Given the description of an element on the screen output the (x, y) to click on. 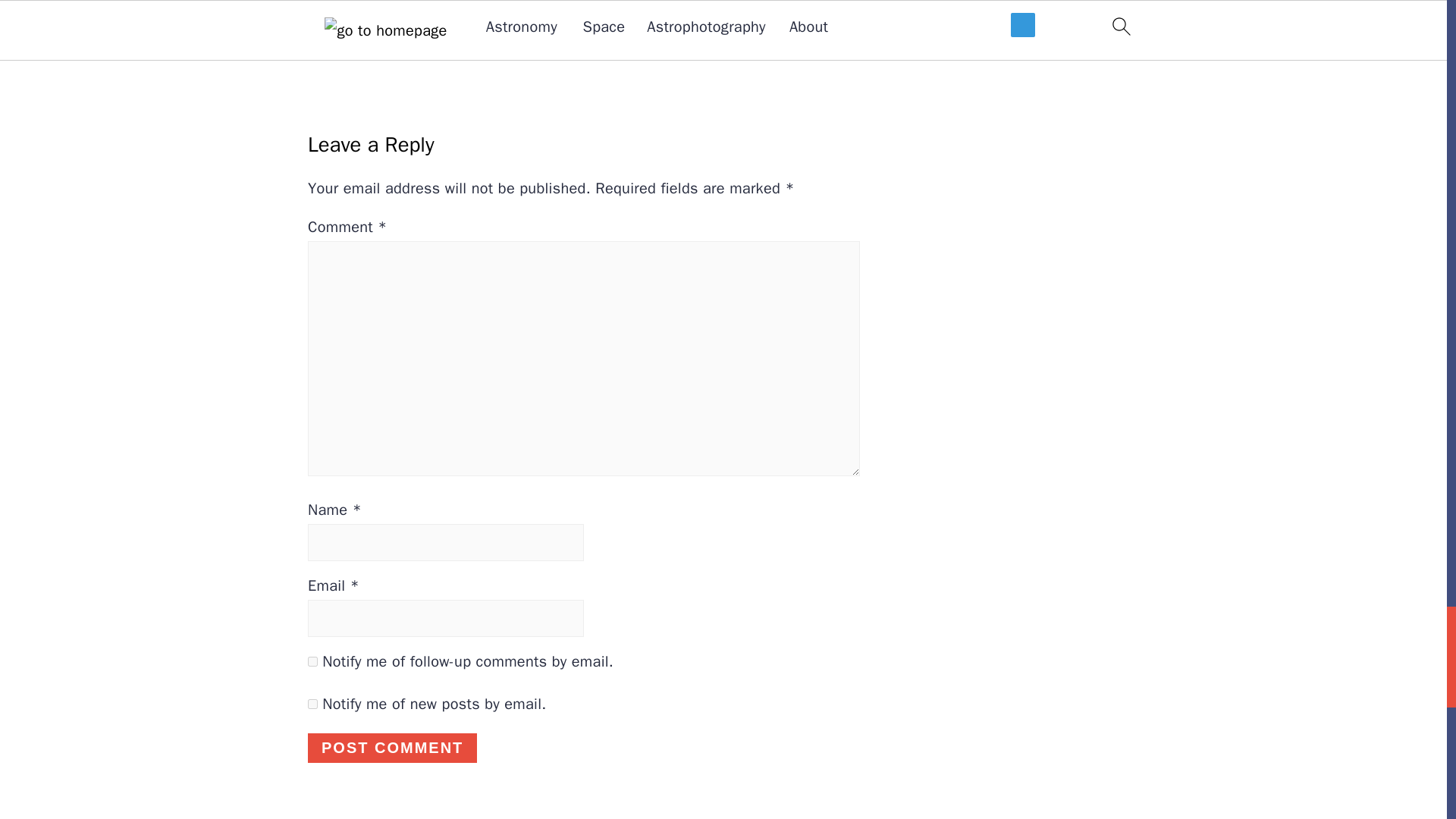
subscribe (312, 704)
subscribe (312, 661)
Post Comment (392, 747)
